Given the description of an element on the screen output the (x, y) to click on. 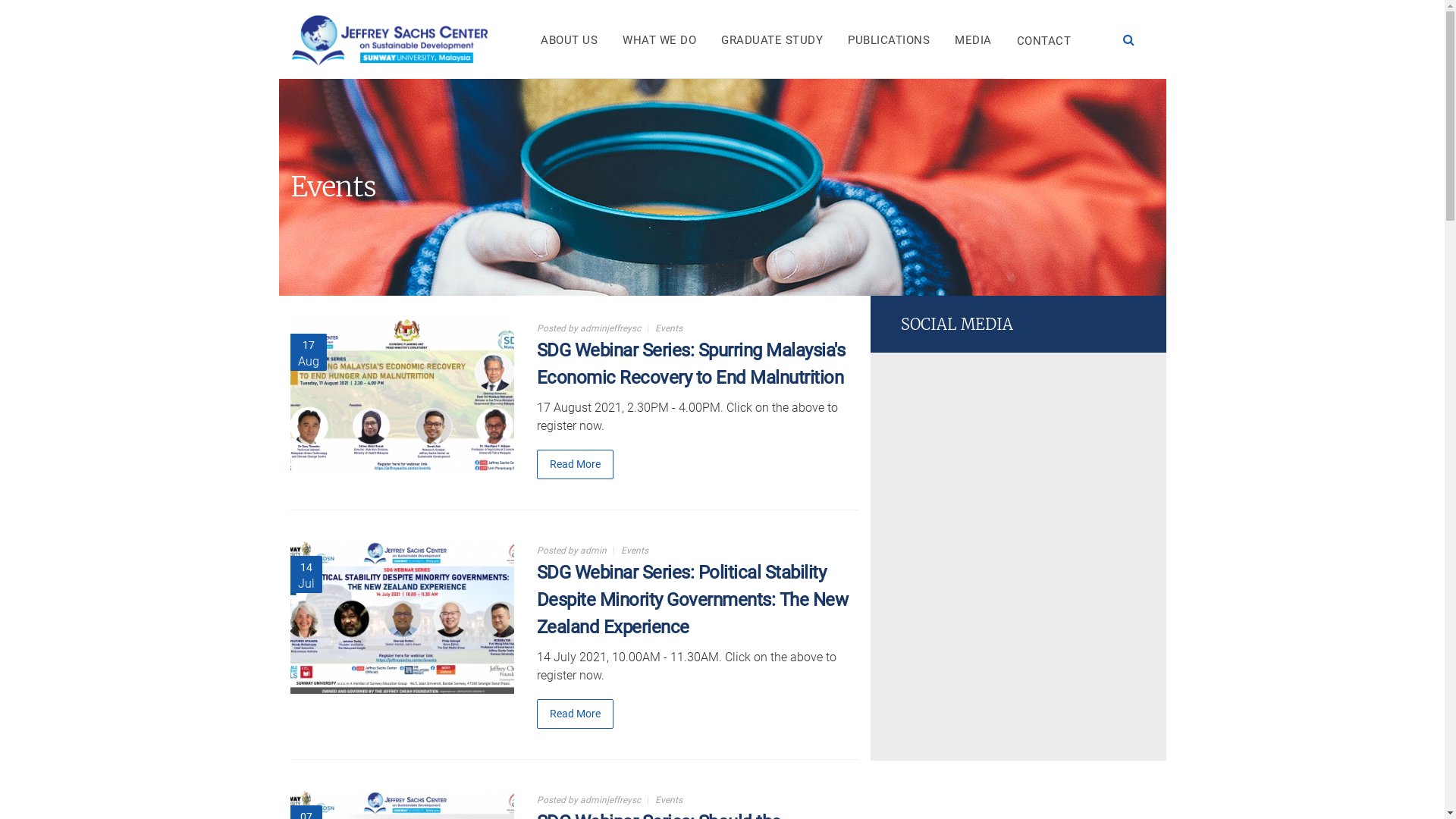
GRADUATE STUDY Element type: text (771, 39)
Posted by adminjeffreysc Element type: text (588, 328)
MEDIA Element type: text (973, 39)
WHAT WE DO Element type: text (659, 39)
Events Element type: text (633, 550)
Read More Element type: text (574, 713)
PUBLICATIONS Element type: text (888, 39)
Posted by adminjeffreysc Element type: text (588, 799)
Read More Element type: text (574, 464)
ABOUT US Element type: text (568, 39)
Events Element type: text (668, 328)
Posted by admin Element type: text (571, 550)
SDG_16_Webinar_14_July.jpg Element type: text (406, 565)
SDG_Webinar_Nutrition_Food_Security_1.jpg Element type: text (468, 343)
Events Element type: text (668, 799)
CONTACT Element type: text (1043, 39)
Skip to main content Element type: text (54, 0)
